Given the description of an element on the screen output the (x, y) to click on. 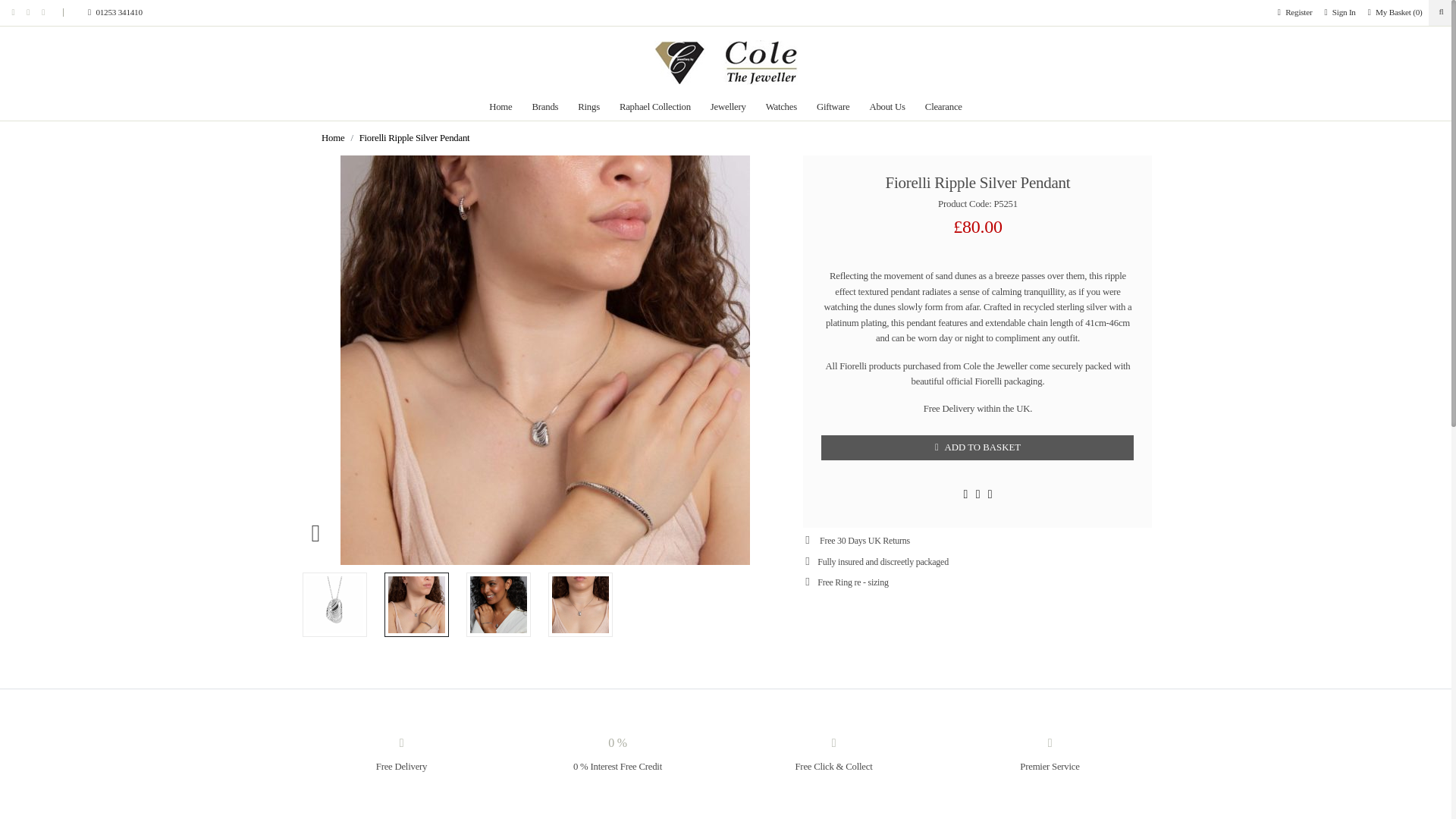
Sign In (1339, 12)
Register (1295, 12)
Rings (588, 106)
About Us (886, 106)
Brands (545, 106)
Raphael Collection (655, 106)
Fiorelli Ripple Silver Pendant (414, 137)
Watches (780, 106)
Home (332, 137)
Jewellery (727, 106)
ADD TO BASKET (977, 447)
01253 341410 (99, 12)
Clearance (943, 106)
Home (500, 106)
Giftware (832, 106)
